Given the description of an element on the screen output the (x, y) to click on. 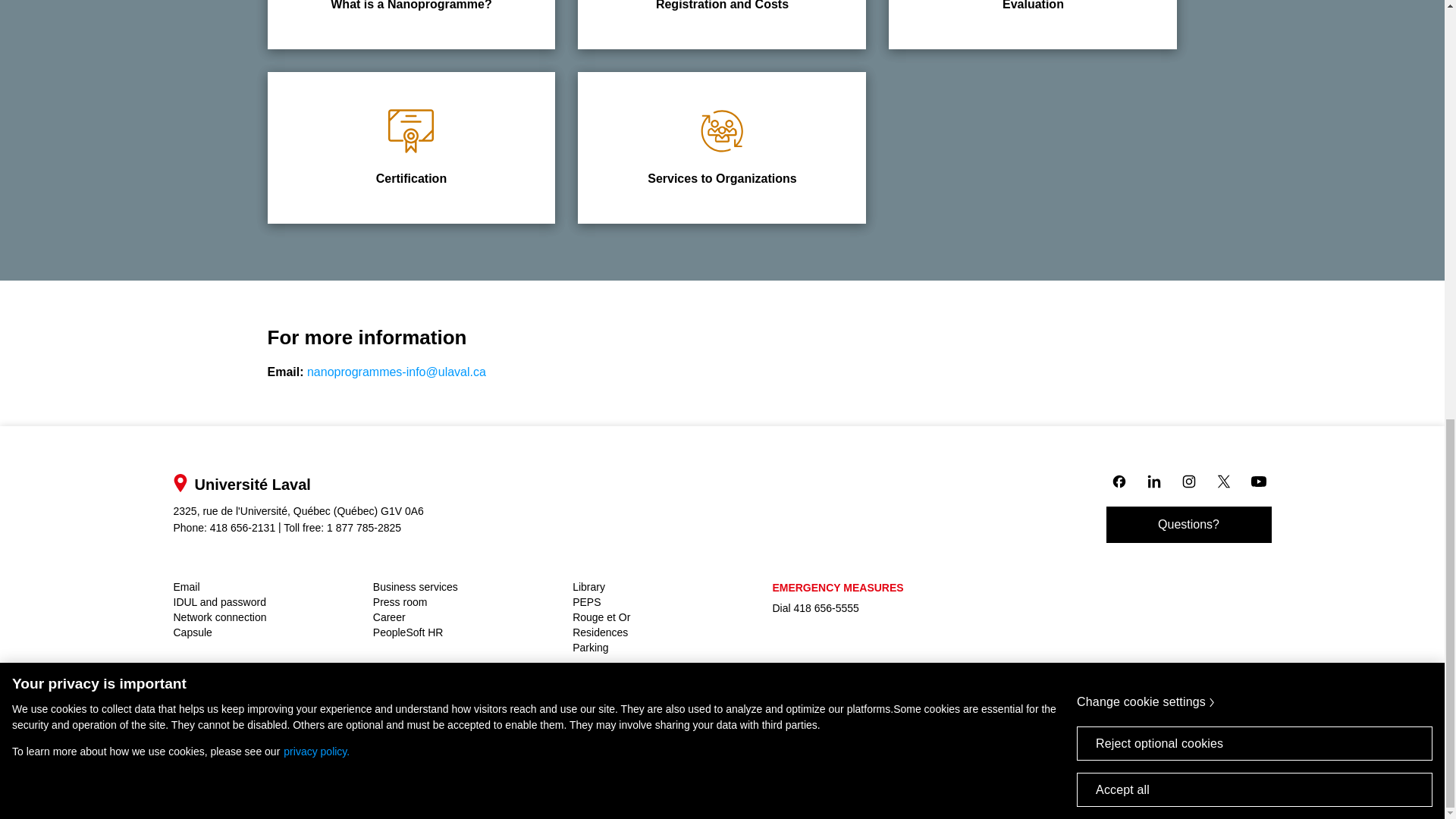
Reconnaissance (410, 130)
1 877 785-2825 (363, 527)
418 656-2131 (242, 527)
Follow us on Youtube (1257, 480)
What is a Nanoprogramme? (410, 24)
Follow us on Instagram (1187, 480)
Evaluation (1032, 24)
Follow us on Facebook (410, 147)
Suivez-nous sur X (1118, 480)
Follow us on LinkedIn (1222, 480)
